Given the description of an element on the screen output the (x, y) to click on. 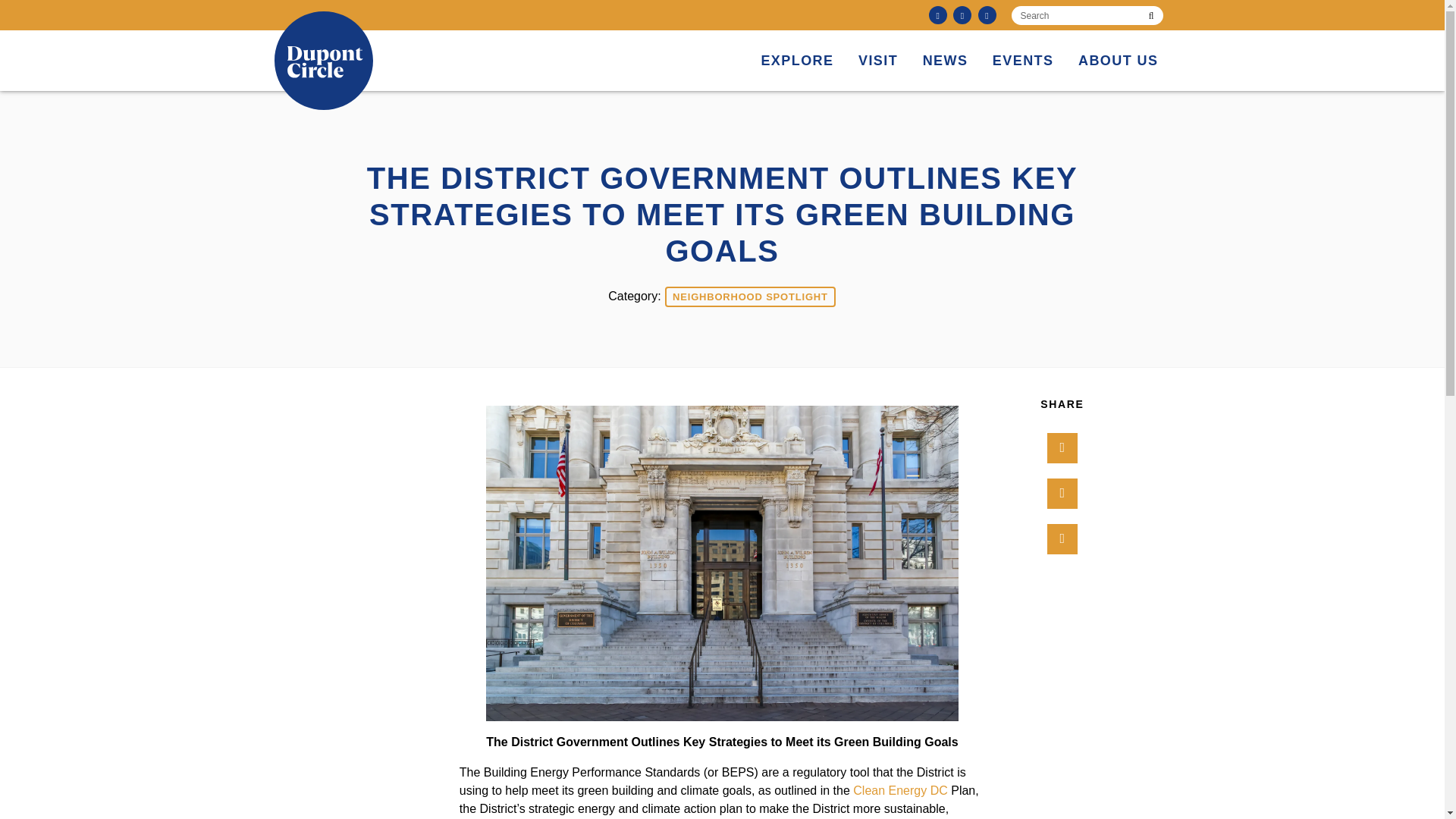
ABOUT US (1117, 60)
EXPLORE (797, 60)
Clean Energy DC (900, 789)
Share on Linked In (1061, 539)
NEWS (945, 60)
Share on Twitter (1061, 493)
VISIT (877, 60)
Share on Facebook (1061, 448)
NEIGHBORHOOD SPOTLIGHT (750, 296)
EVENTS (1023, 60)
